Given the description of an element on the screen output the (x, y) to click on. 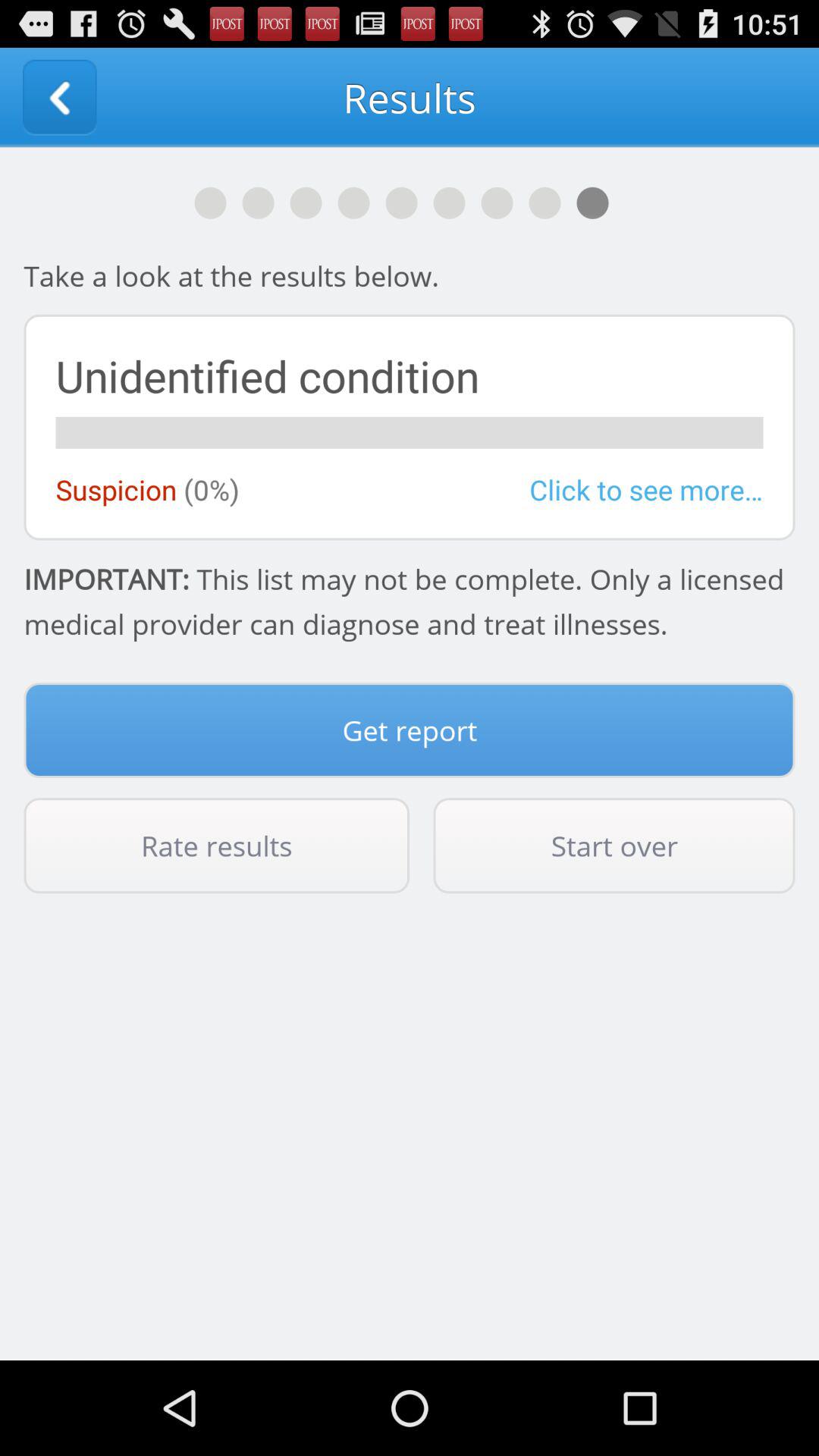
toggle to go back button (59, 97)
